Given the description of an element on the screen output the (x, y) to click on. 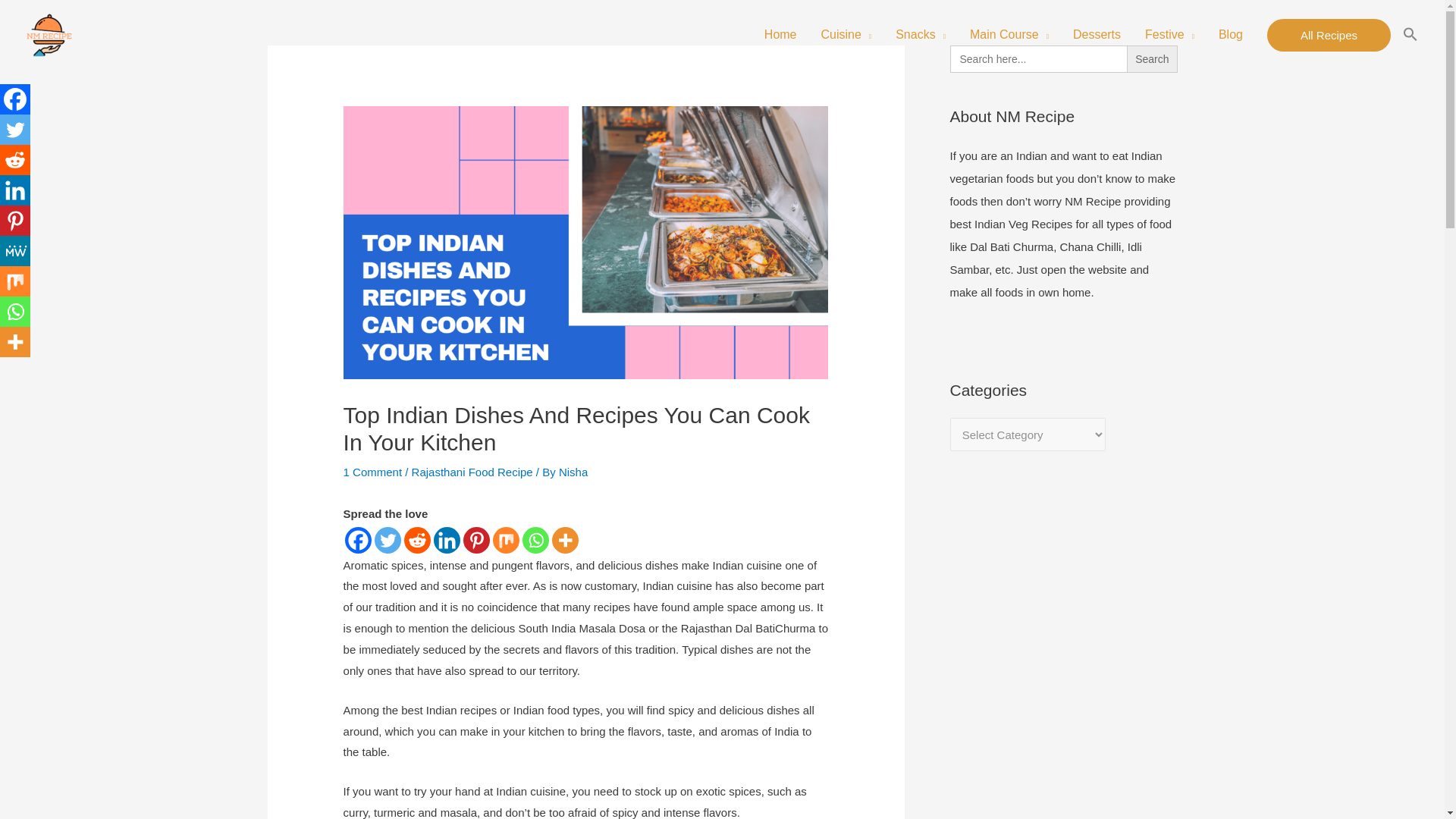
Facebook (15, 99)
Reddit (417, 540)
Nisha (573, 472)
More (564, 540)
Festive (1169, 35)
Mix (506, 540)
All Recipes (1328, 34)
Rajasthani Food Recipe (472, 472)
Snacks (920, 35)
Facebook (358, 540)
